Given the description of an element on the screen output the (x, y) to click on. 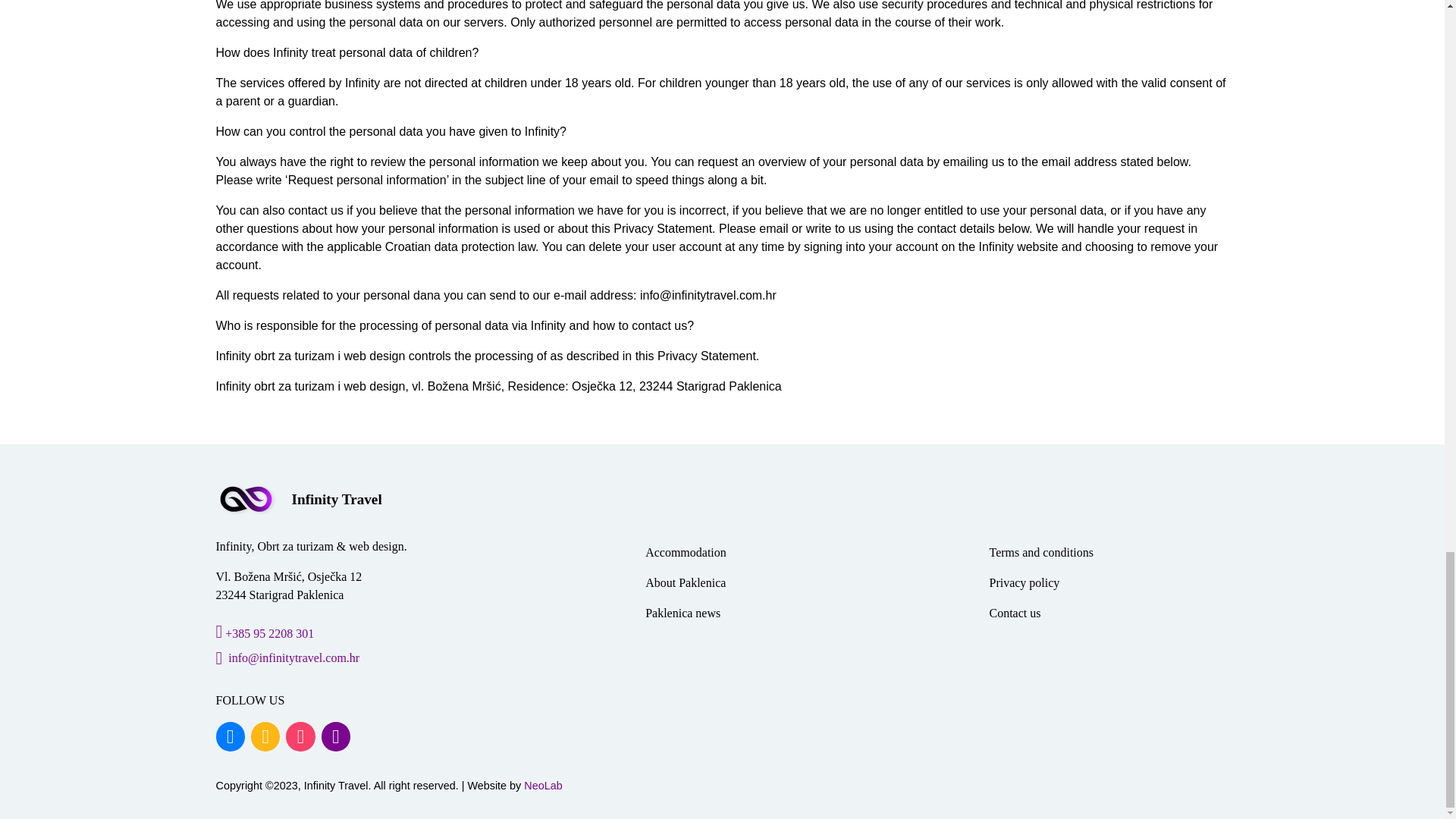
Terms and conditions (1040, 552)
Privacy policy (1023, 583)
NeoLab (543, 785)
Contact us (1014, 613)
About Paklenica (685, 583)
Paklenica news (682, 613)
Accommodation (685, 552)
